Given the description of an element on the screen output the (x, y) to click on. 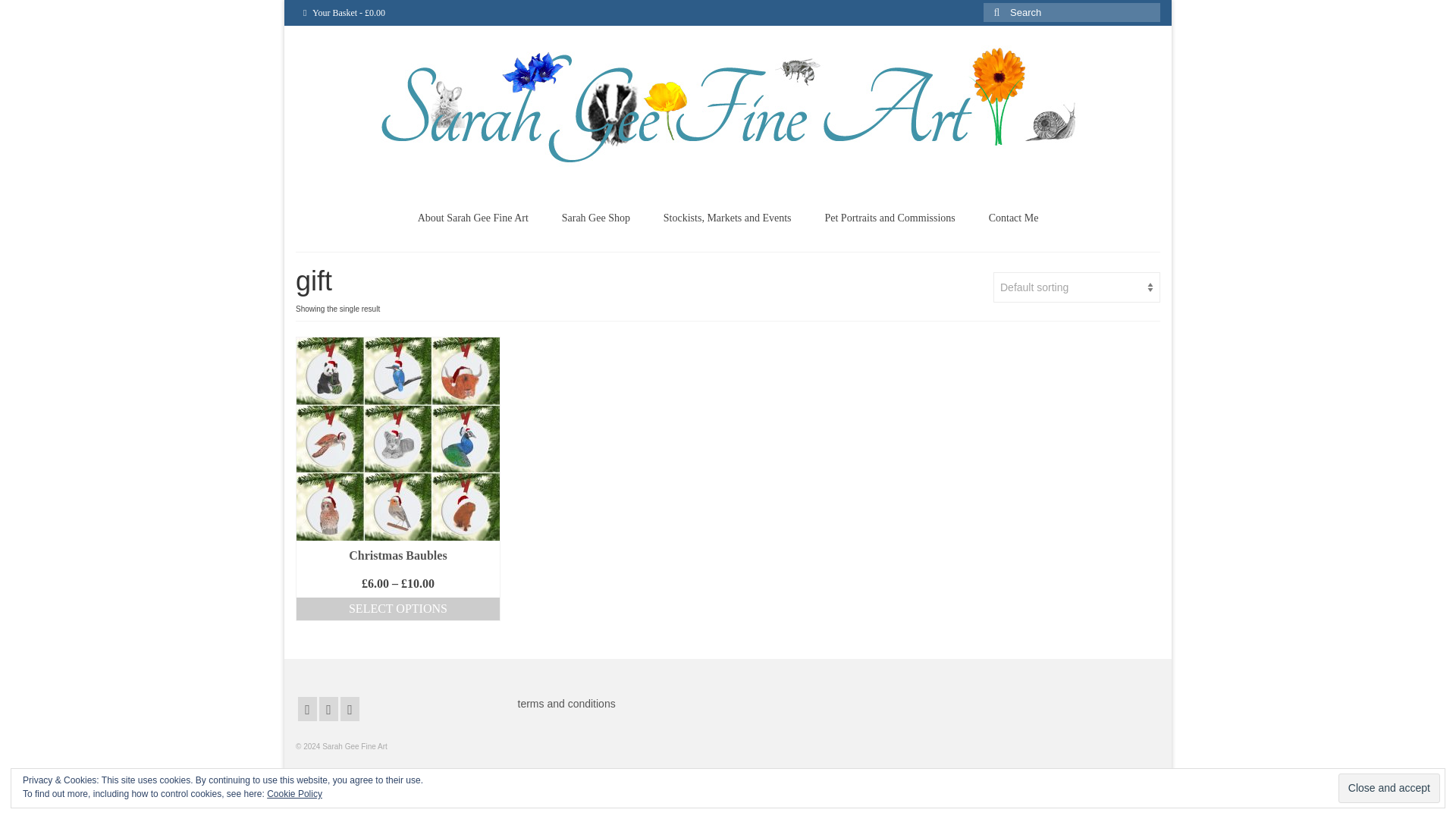
Pet Portraits and Commissions (889, 217)
Sarah Gee Shop (596, 217)
terms and conditions (565, 703)
Christmas Baubles (398, 555)
SELECT OPTIONS (398, 608)
Contact Me (1014, 217)
About Sarah Gee Fine Art (473, 217)
View your shopping basket (344, 12)
Stockists, Markets and Events (726, 217)
